Given the description of an element on the screen output the (x, y) to click on. 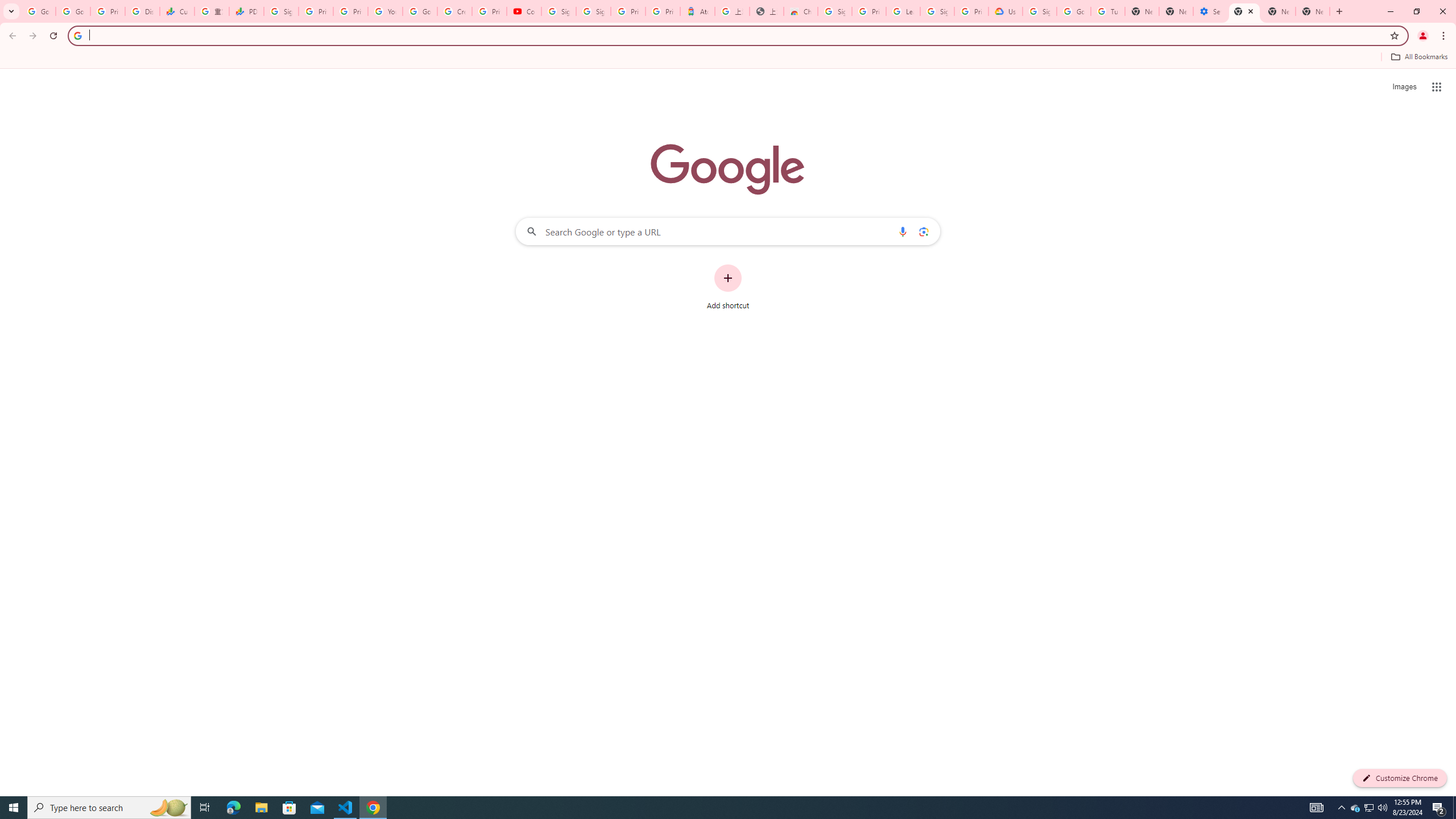
Sign in - Google Accounts (592, 11)
Chrome Web Store - Color themes by Chrome (800, 11)
Create your Google Account (454, 11)
Sign in - Google Accounts (1039, 11)
New Tab (1141, 11)
Google Account Help (1073, 11)
